Given the description of an element on the screen output the (x, y) to click on. 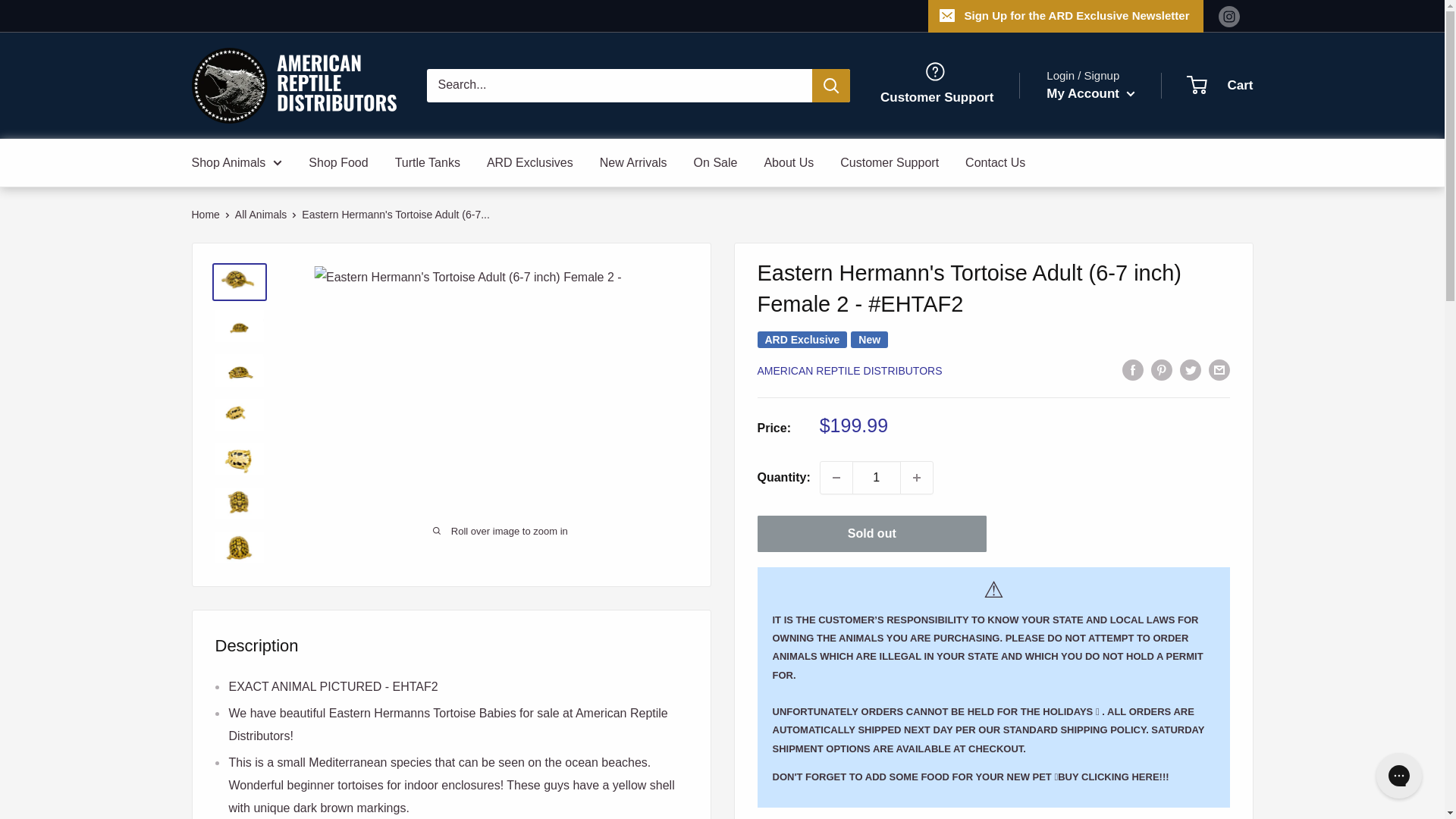
Foods (1113, 776)
Decrease quantity by 1 (836, 477)
Foods (912, 776)
1 (876, 477)
Gorgias live chat messenger (1398, 775)
Sign Up for the ARD Exclusive Newsletter (1065, 15)
Increase quantity by 1 (917, 477)
